Given the description of an element on the screen output the (x, y) to click on. 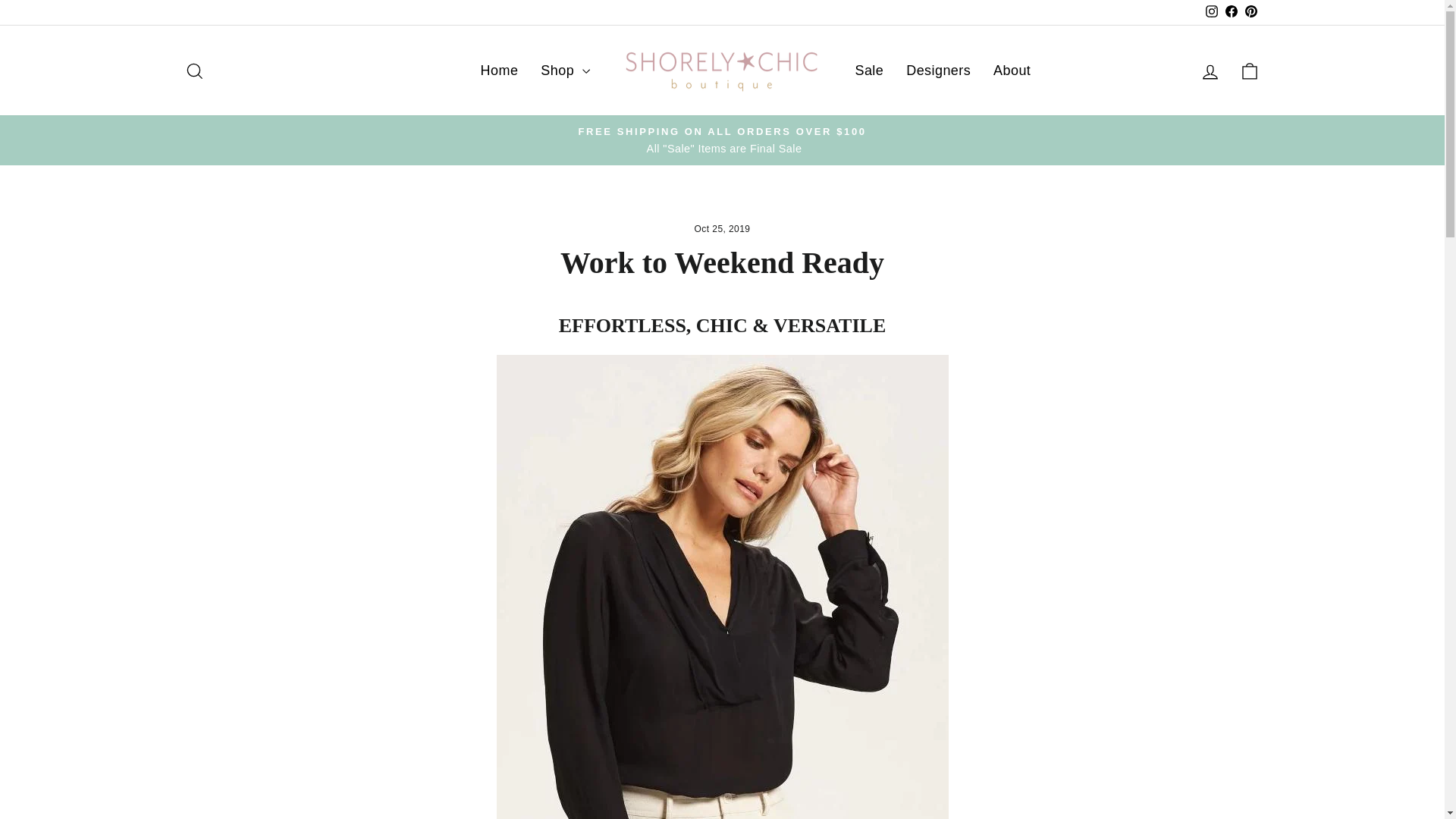
Shorely Chic Boutique on Facebook (1230, 12)
icon-bag-minimal (1249, 70)
Shorely Chic Boutique on Pinterest (1250, 12)
icon-search (194, 70)
instagram (1211, 10)
account (1210, 71)
Shorely Chic Boutique on Instagram (1211, 12)
